Given the description of an element on the screen output the (x, y) to click on. 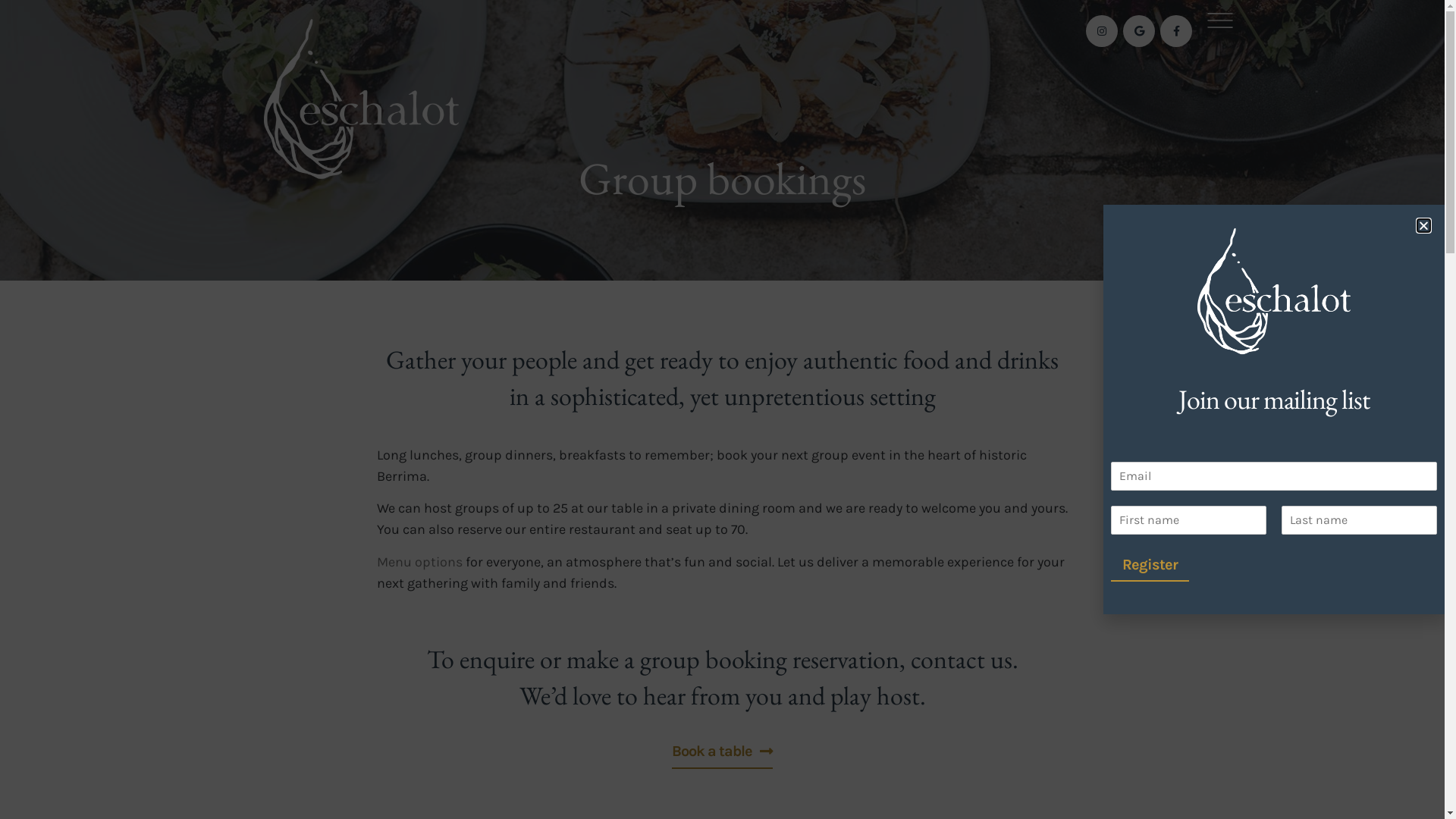
Book a table Element type: text (721, 748)
Register Element type: text (1149, 565)
contact us Element type: text (960, 658)
Menu options Element type: text (418, 561)
